Given the description of an element on the screen output the (x, y) to click on. 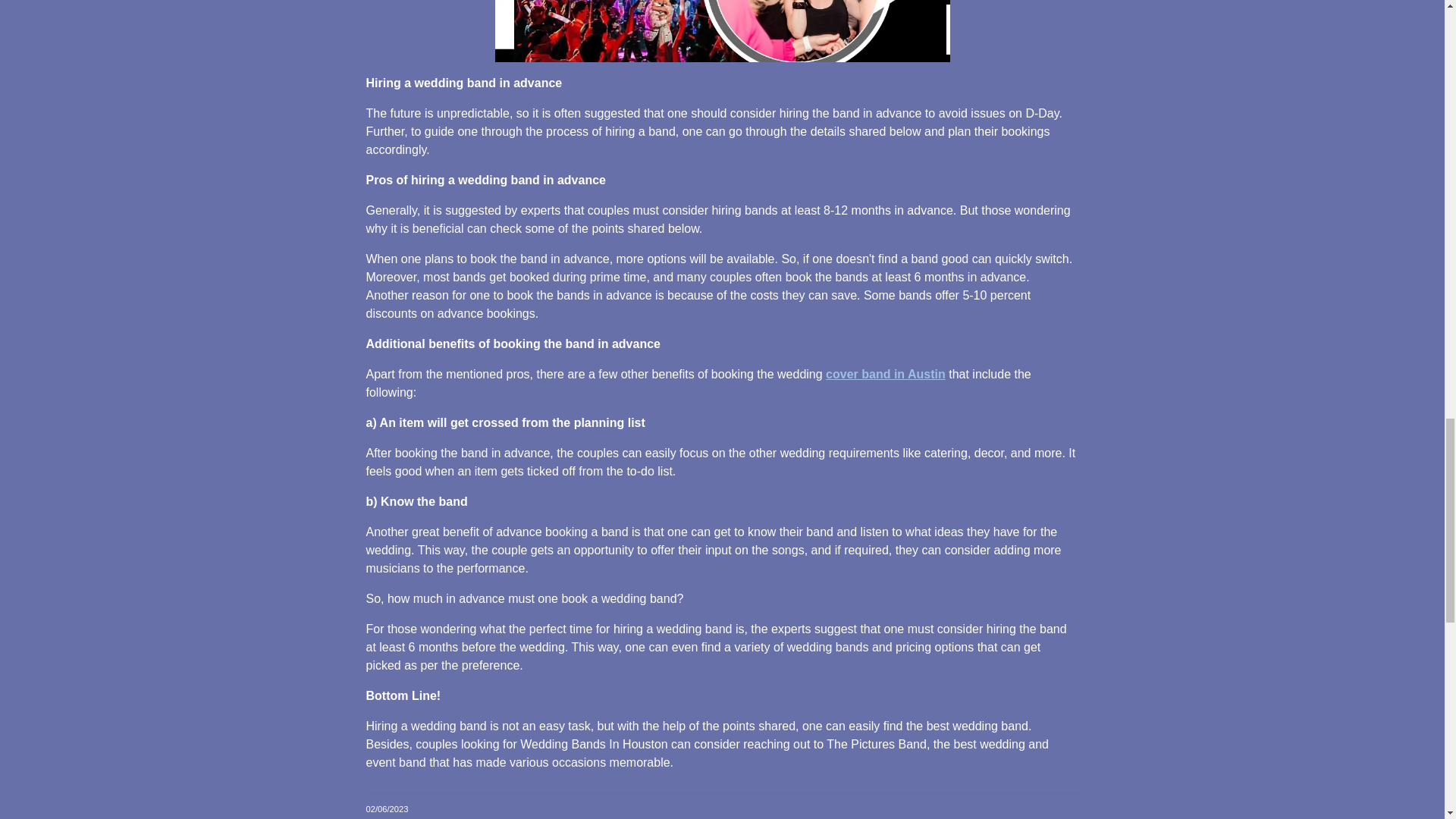
February 06, 2023 06:07 (386, 809)
cover band in Austin (884, 373)
